Given the description of an element on the screen output the (x, y) to click on. 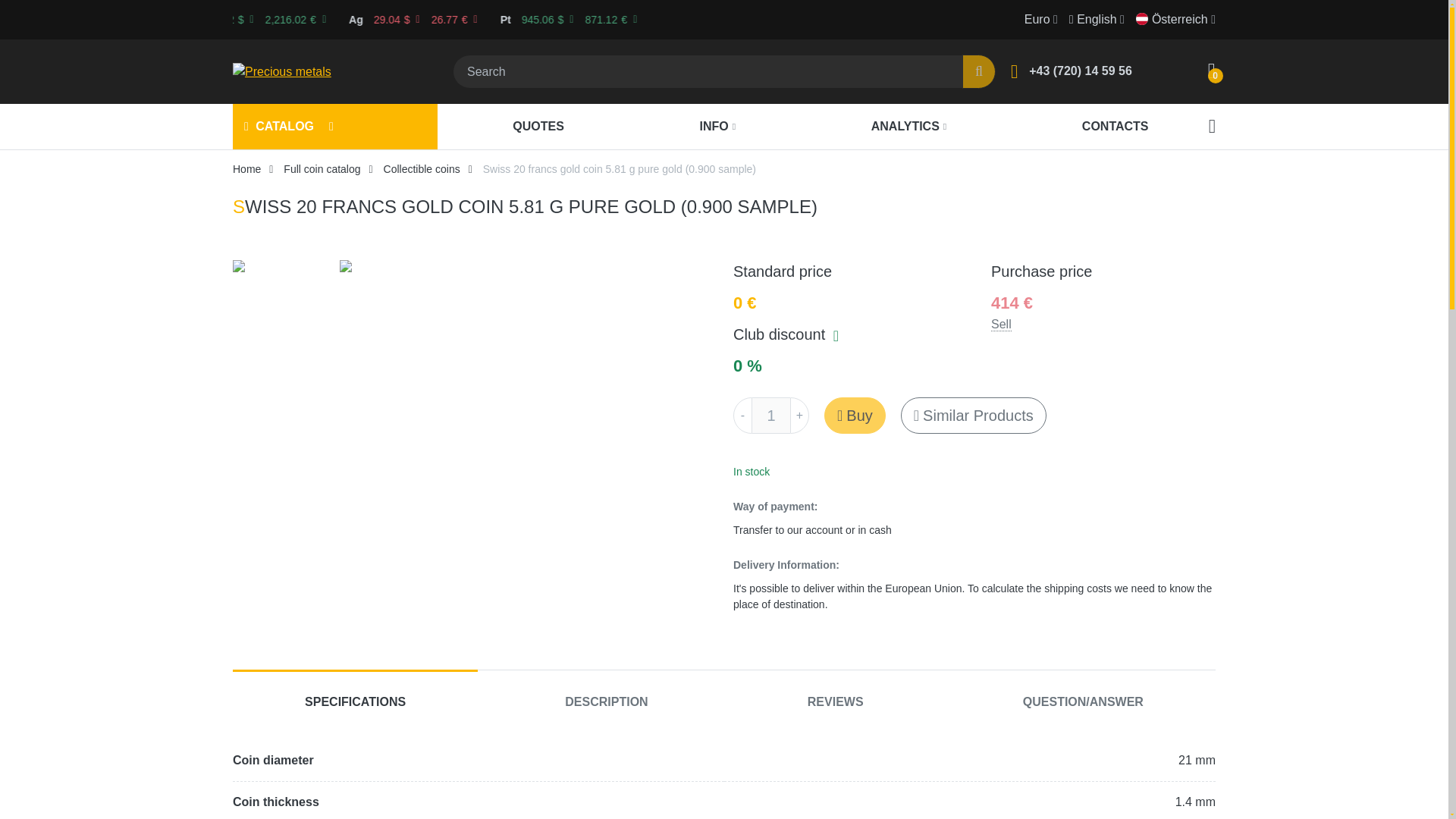
Collectible coins (422, 168)
Home (246, 168)
CATALOG (278, 126)
1 (771, 415)
Full coin catalog (321, 168)
